Given the description of an element on the screen output the (x, y) to click on. 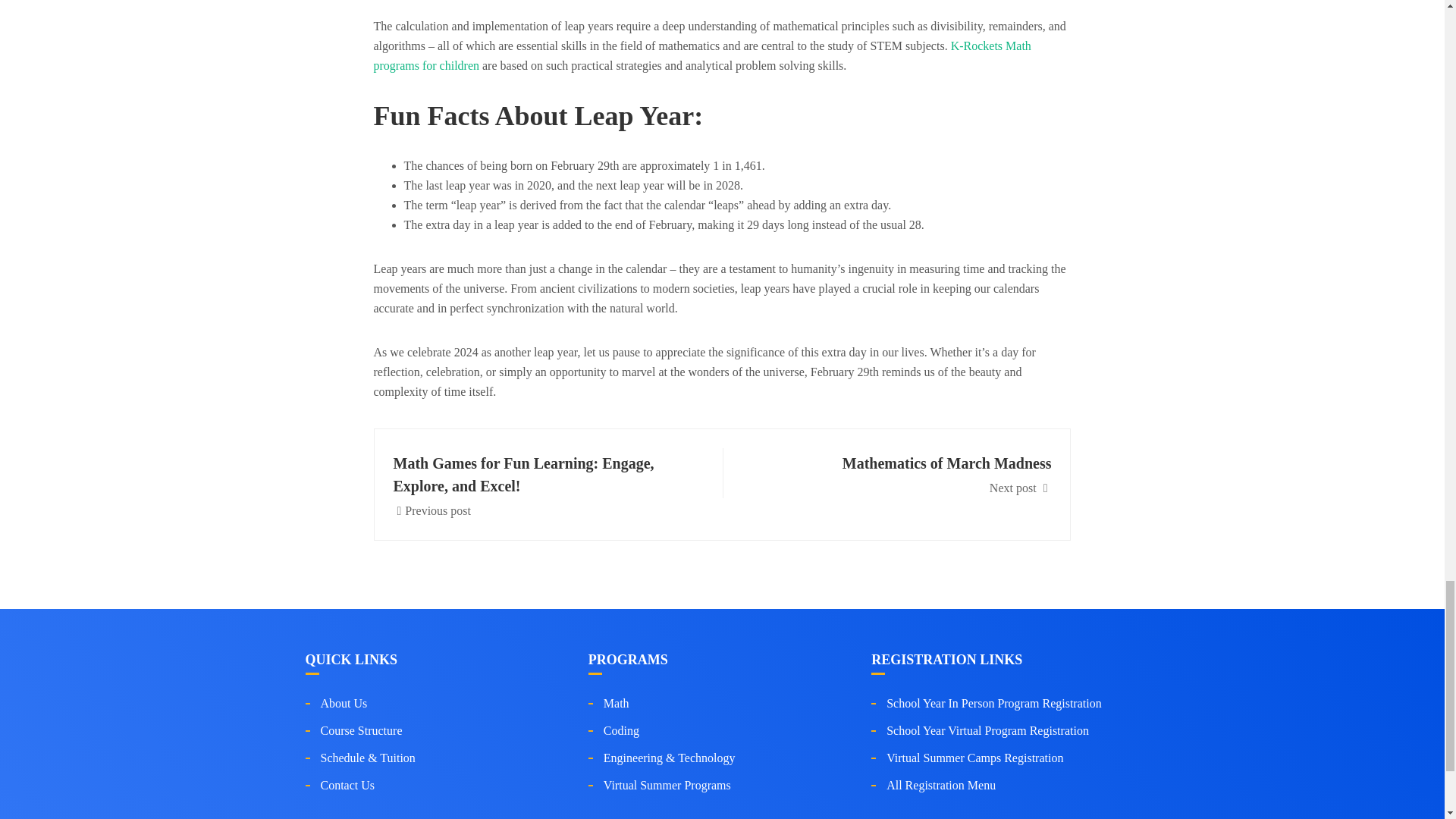
K-Rockets Math programs for children (902, 473)
Math (701, 55)
About Us (616, 703)
Course Structure (343, 703)
Contact Us (360, 730)
